Given the description of an element on the screen output the (x, y) to click on. 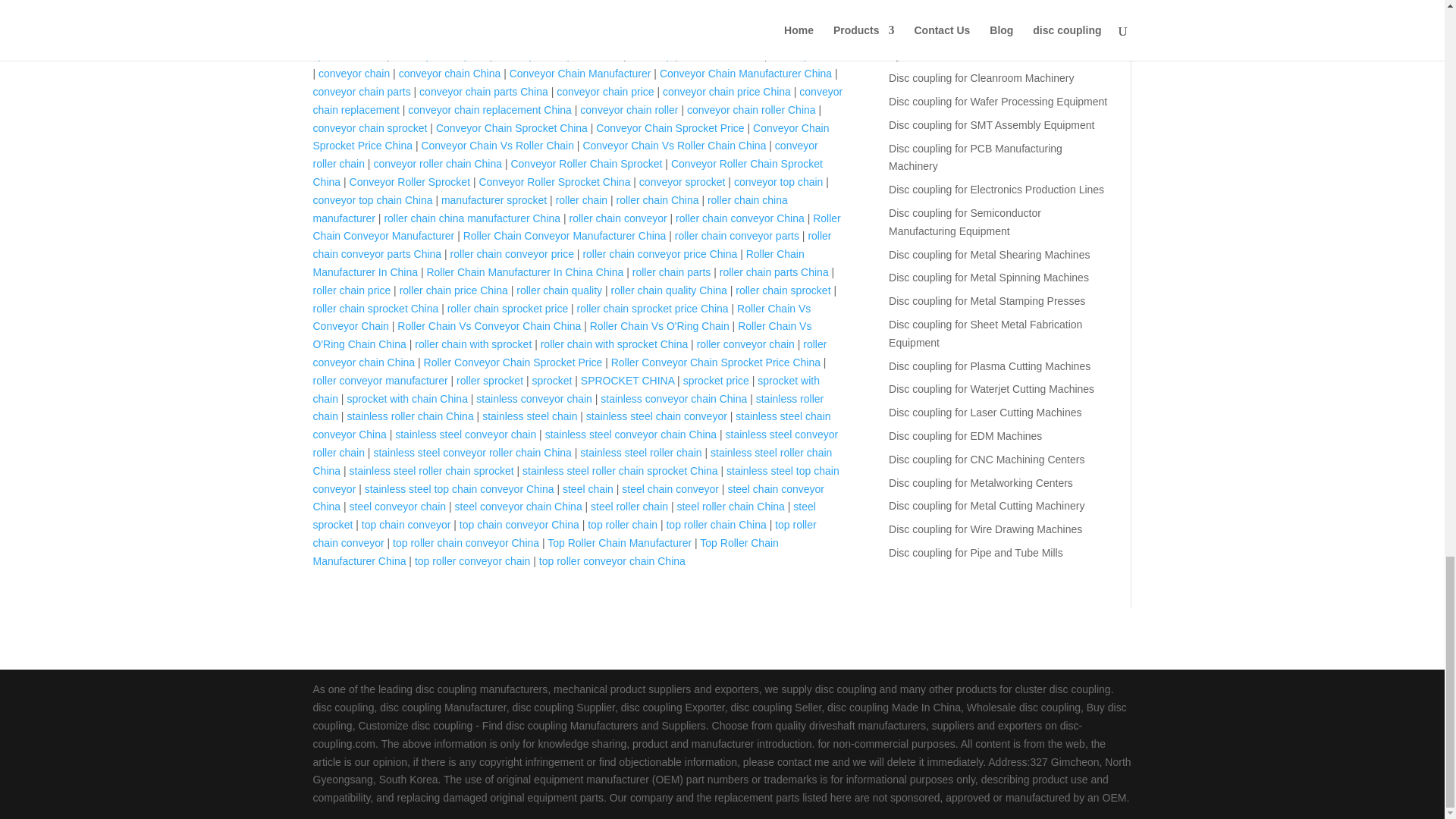
chain conveyor roller conveyor (628, 3)
chain conveyor roller China (483, 3)
chain conveyor roller (361, 3)
chain conveyor roller conveyor China (559, 12)
